Given the description of an element on the screen output the (x, y) to click on. 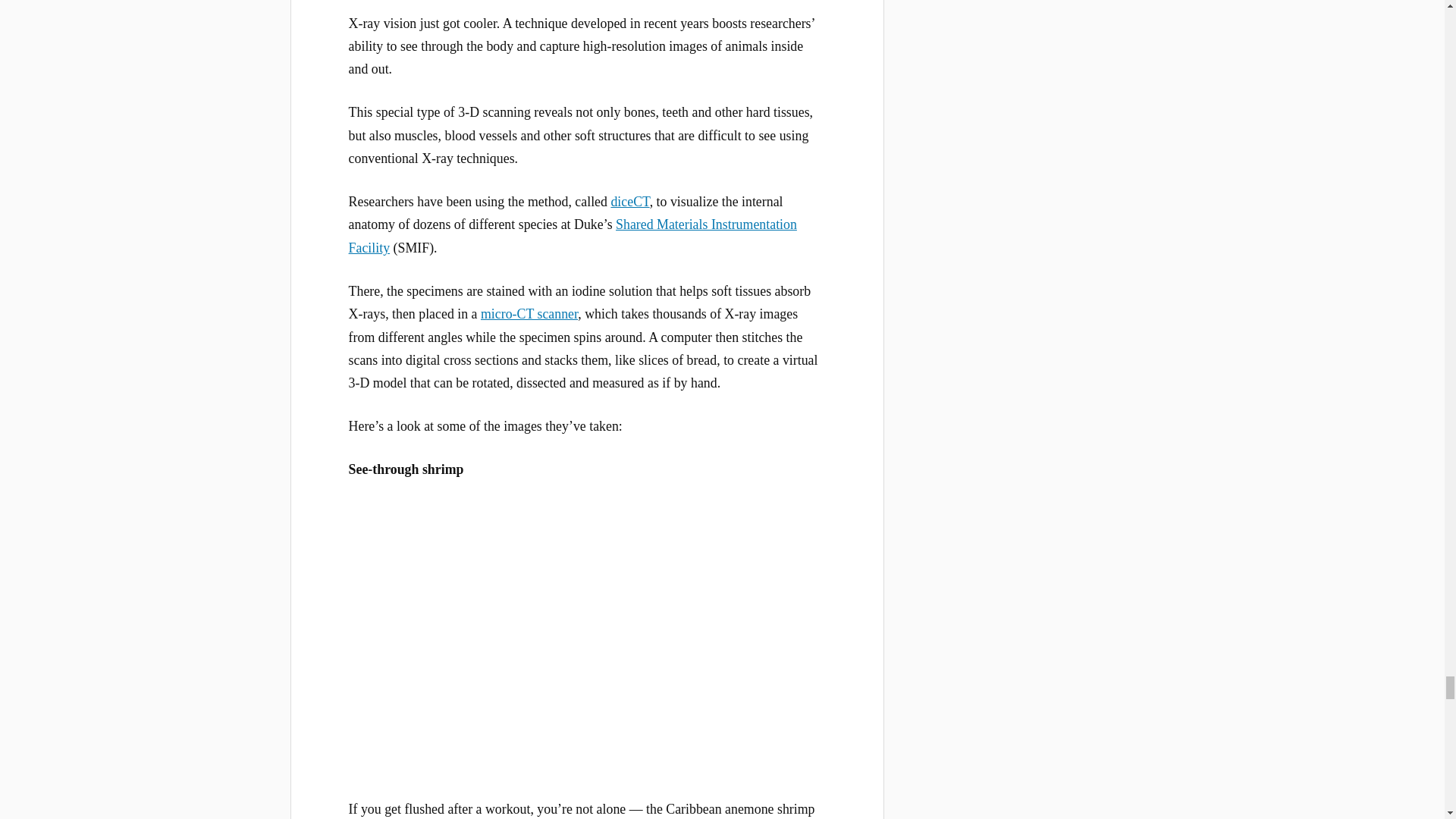
MicroCT scan of transparent shrimp (587, 636)
